Given the description of an element on the screen output the (x, y) to click on. 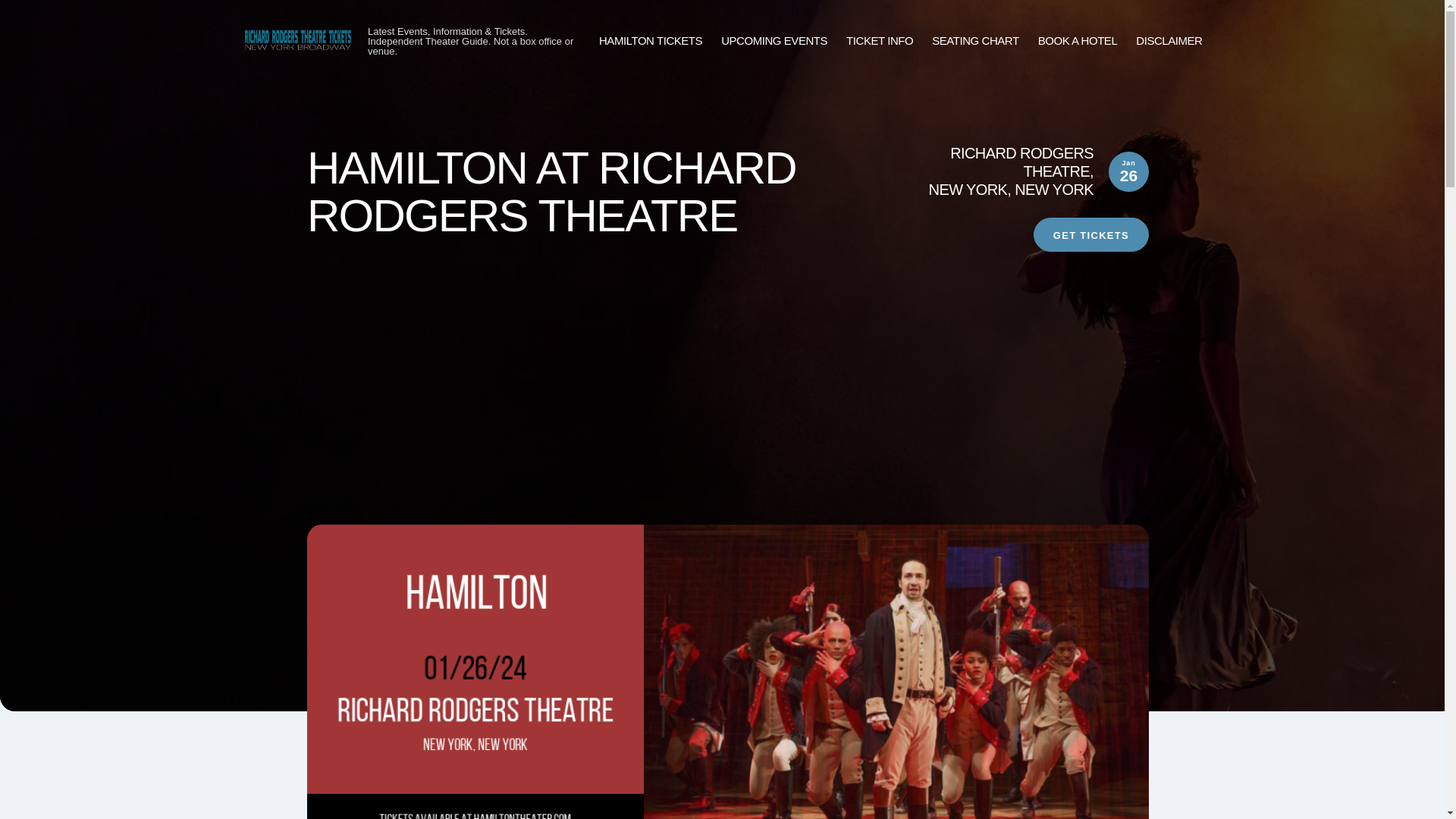
DISCLAIMER (1168, 40)
HAMILTON TICKETS (649, 40)
BOOK A HOTEL (1078, 40)
GET TICKETS (1090, 234)
TICKET INFO (878, 40)
UPCOMING EVENTS (773, 40)
SEATING CHART (974, 40)
